Given the description of an element on the screen output the (x, y) to click on. 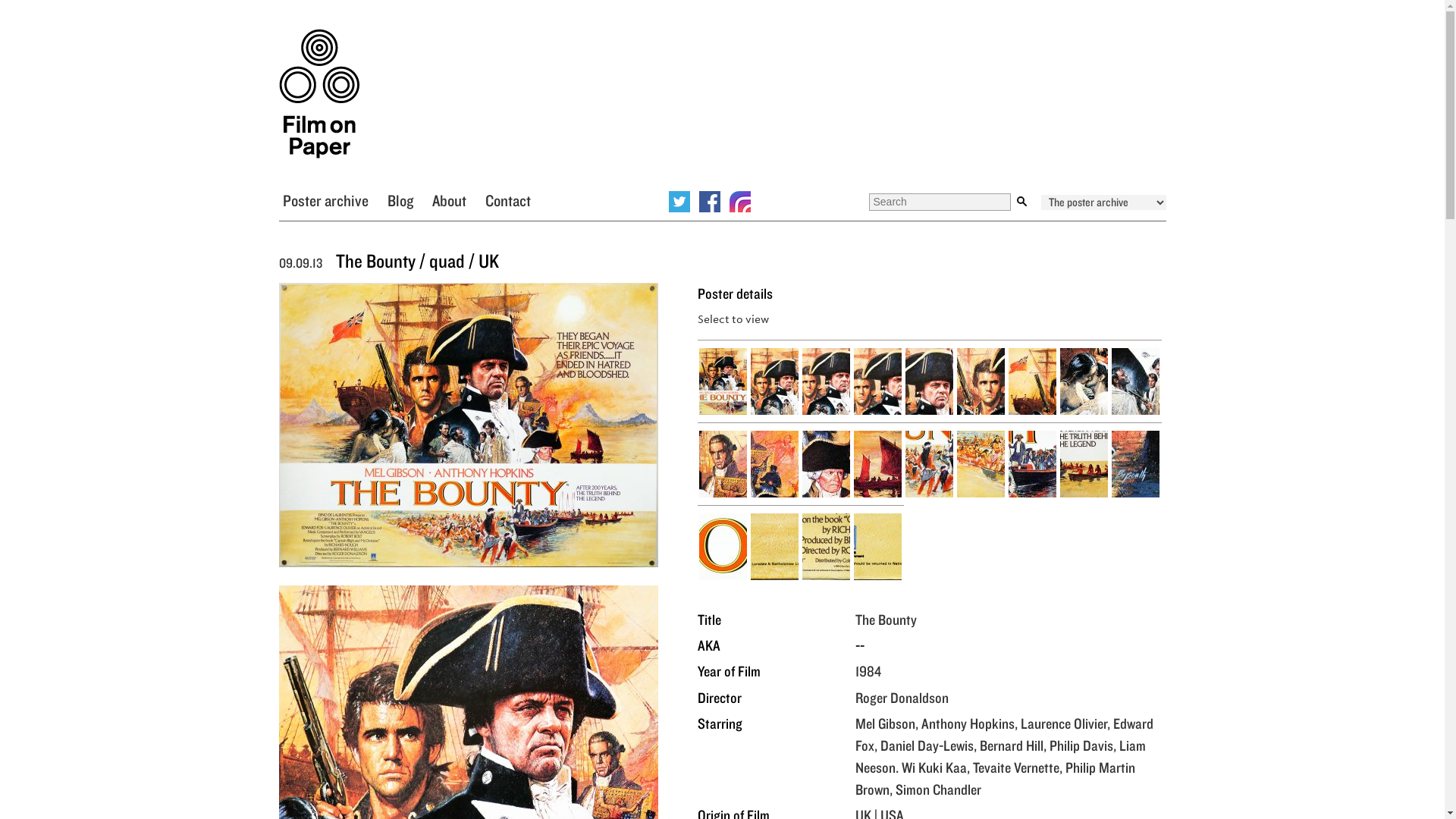
Instagram (740, 201)
Submit (1021, 201)
The Bounty (886, 619)
1984 (868, 670)
Poster archive (325, 199)
Submit (1021, 201)
Poster archive (325, 199)
Blog (399, 199)
Blog (399, 199)
Twitter (679, 201)
Contact (507, 199)
About (448, 199)
Contact (507, 199)
Facebook (709, 201)
Roger Donaldson (902, 697)
